Given the description of an element on the screen output the (x, y) to click on. 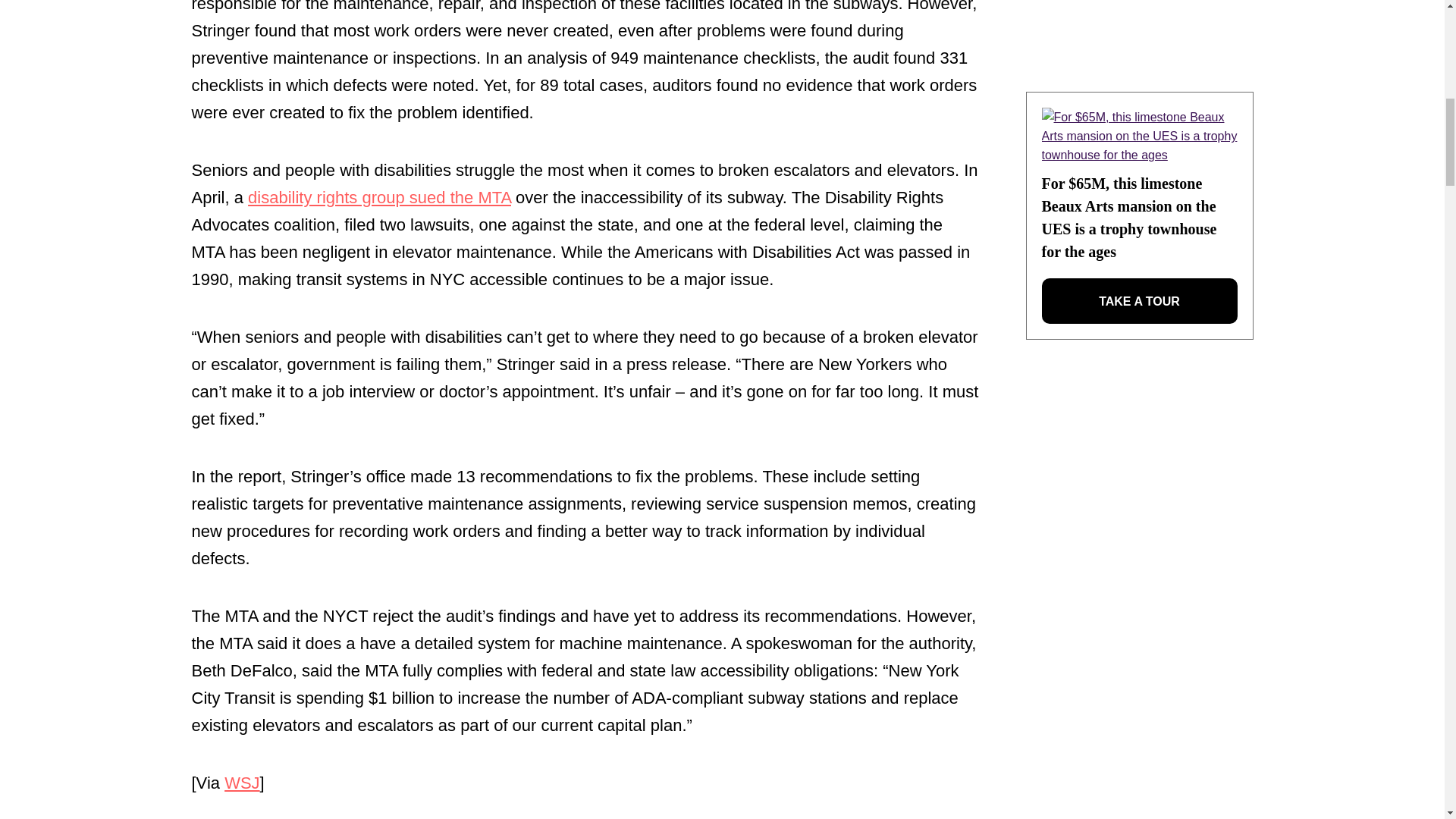
WSJ (241, 782)
disability rights group sued the MTA (379, 197)
